Given the description of an element on the screen output the (x, y) to click on. 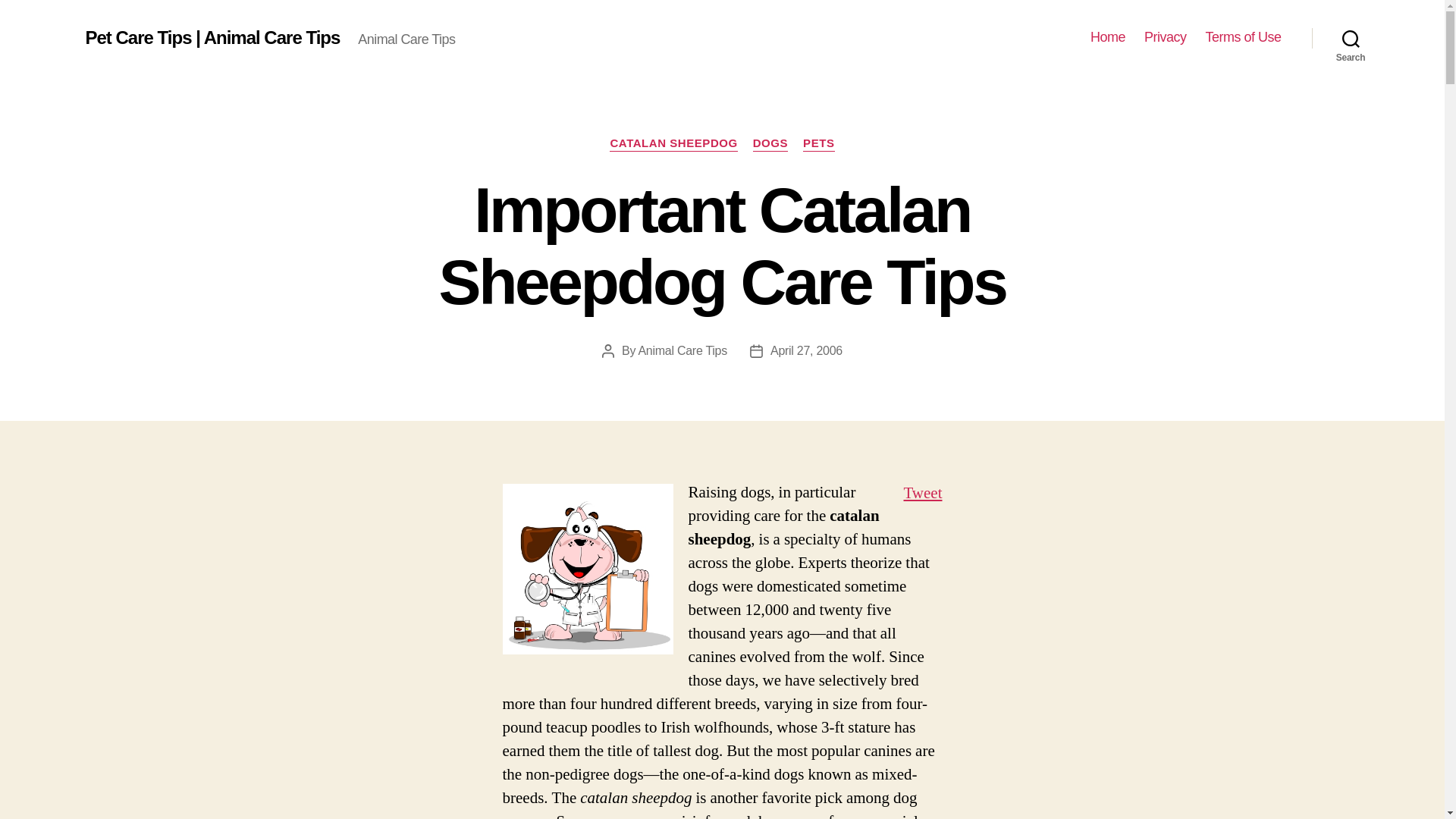
Tweet (922, 493)
Home (1107, 37)
April 27, 2006 (806, 350)
Search (1350, 37)
catalan sheepdog care tips (587, 569)
Terms of Use (1243, 37)
DOGS (769, 143)
Animal Care Tips (681, 350)
Privacy (1165, 37)
CATALAN SHEEPDOG (673, 143)
